Given the description of an element on the screen output the (x, y) to click on. 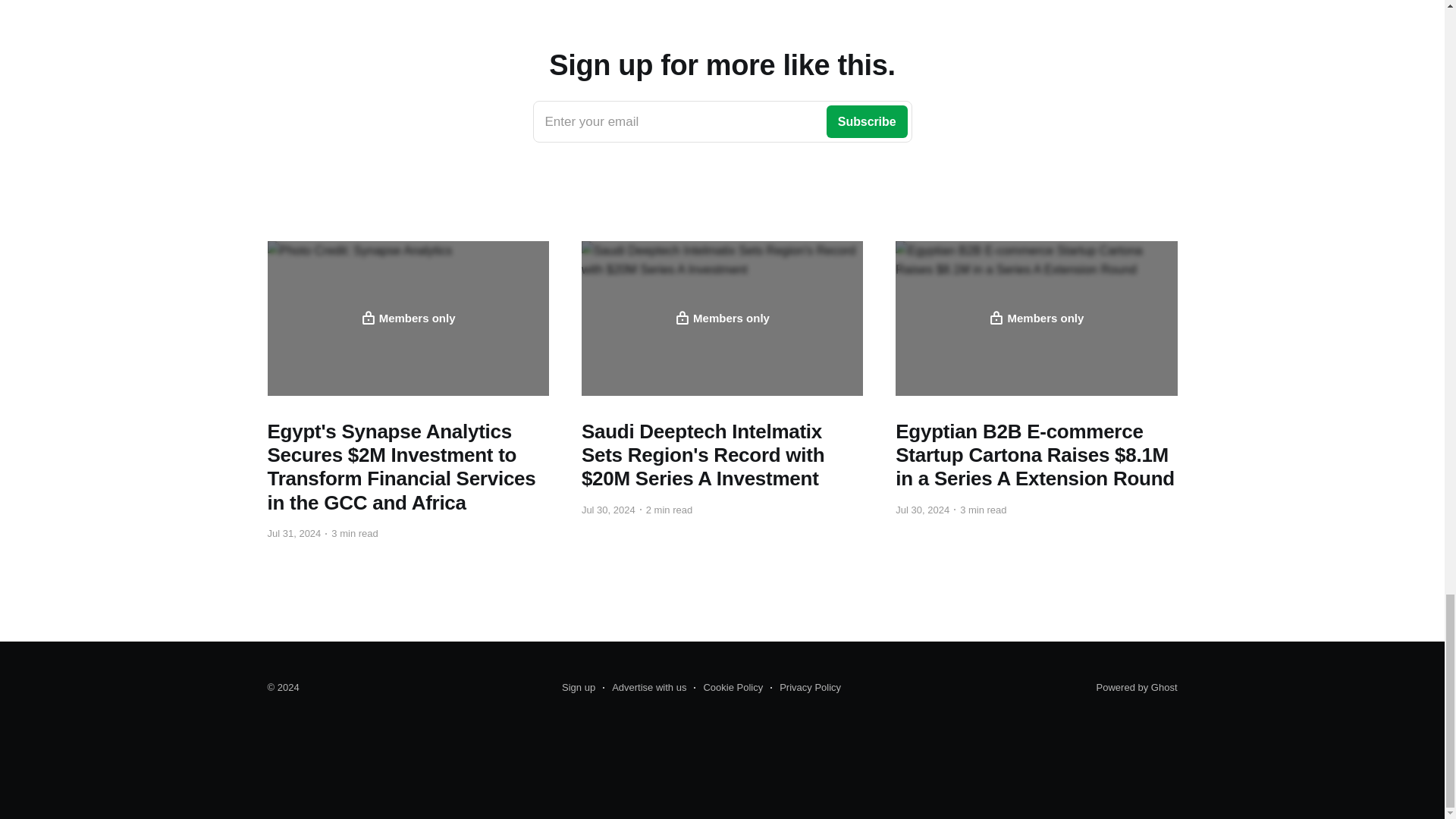
Members only (407, 317)
Advertise with us (721, 121)
Members only (643, 687)
Members only (721, 317)
Sign up (1035, 317)
